Given the description of an element on the screen output the (x, y) to click on. 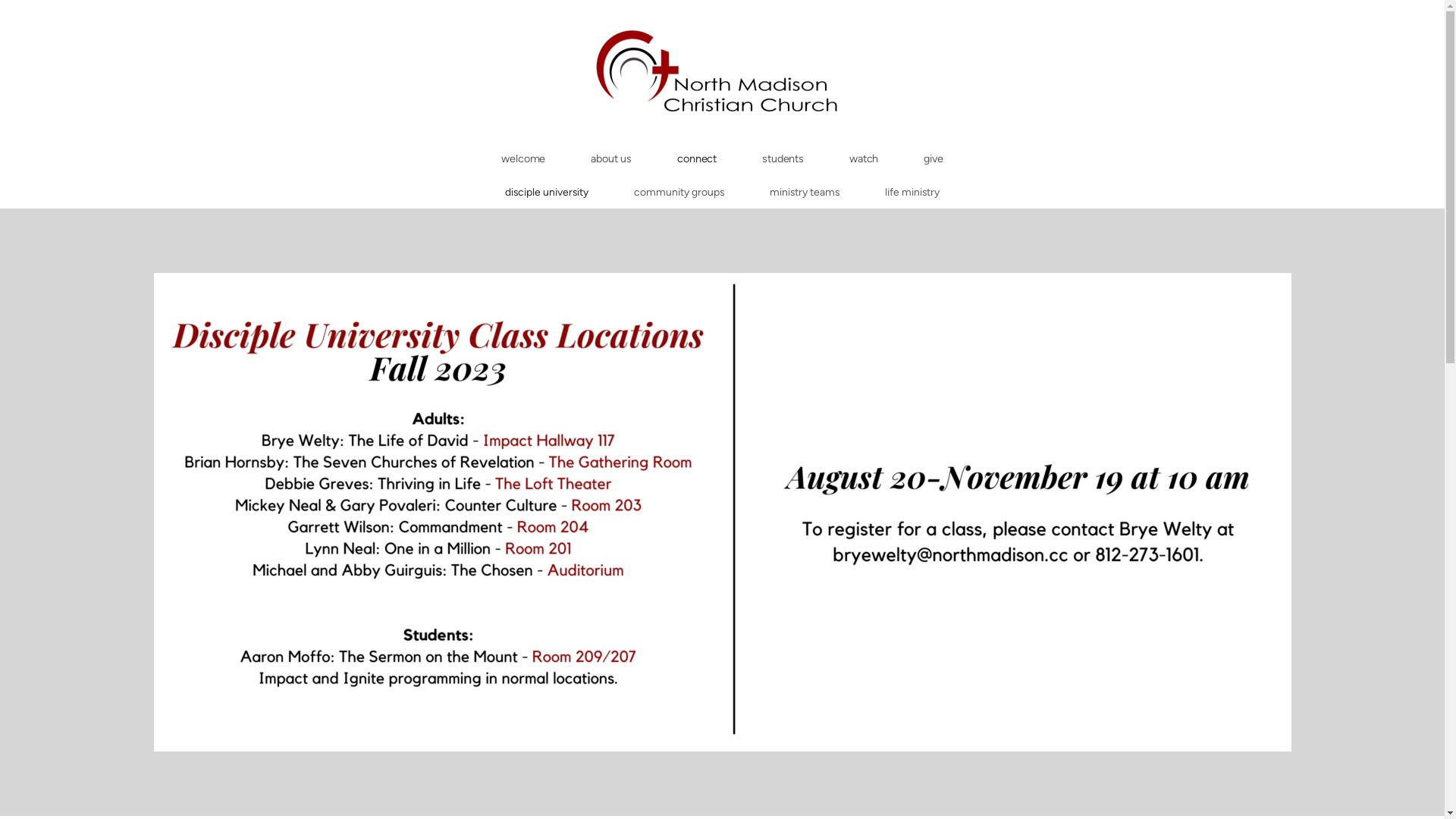
students Element type: text (782, 158)
community groups Element type: text (678, 191)
connect Element type: text (696, 158)
watch Element type: text (863, 158)
ministry teams Element type: text (804, 191)
life ministry Element type: text (911, 191)
give Element type: text (932, 158)
about us Element type: text (610, 158)
disciple university Element type: text (546, 191)
welcome Element type: text (523, 158)
